Given the description of an element on the screen output the (x, y) to click on. 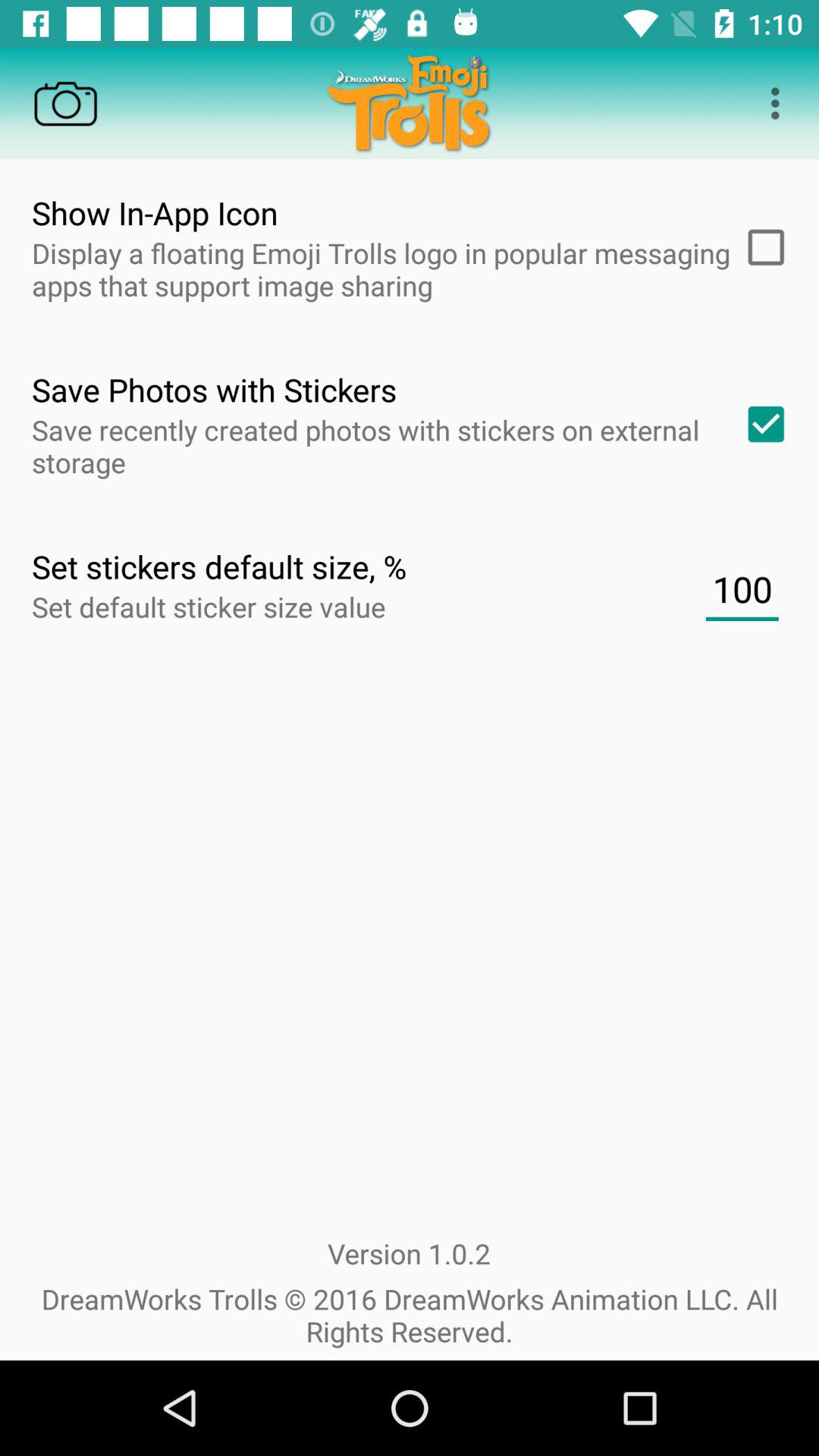
tap the item next to save recently created icon (760, 424)
